Given the description of an element on the screen output the (x, y) to click on. 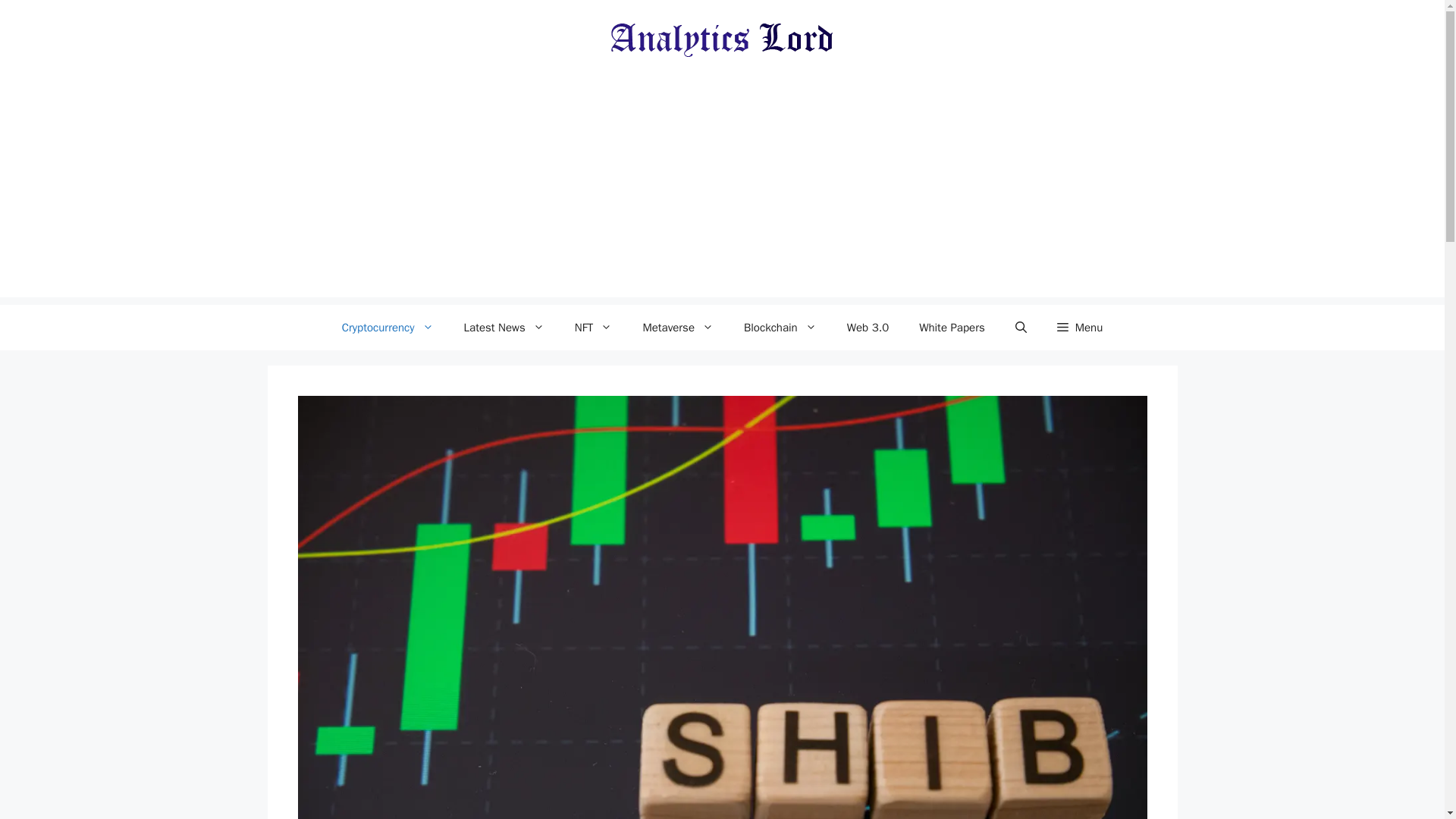
Blockchain (780, 327)
Latest News (503, 327)
Web 3.0 (867, 327)
White Papers (952, 327)
NFT (593, 327)
Metaverse (678, 327)
Cryptocurrency (387, 327)
